Given the description of an element on the screen output the (x, y) to click on. 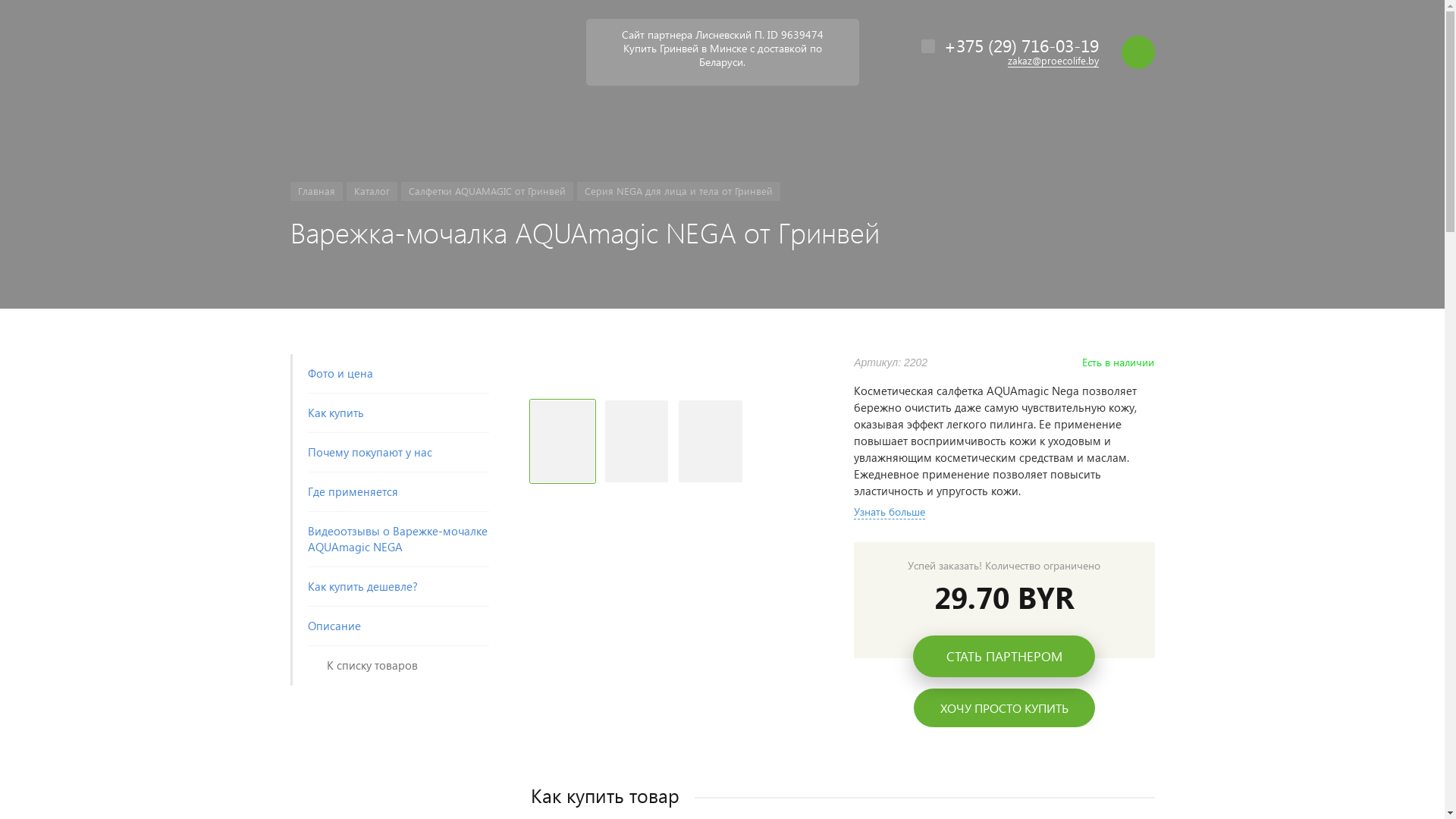
zakaz@proecolife.by Element type: text (1052, 60)
